Given the description of an element on the screen output the (x, y) to click on. 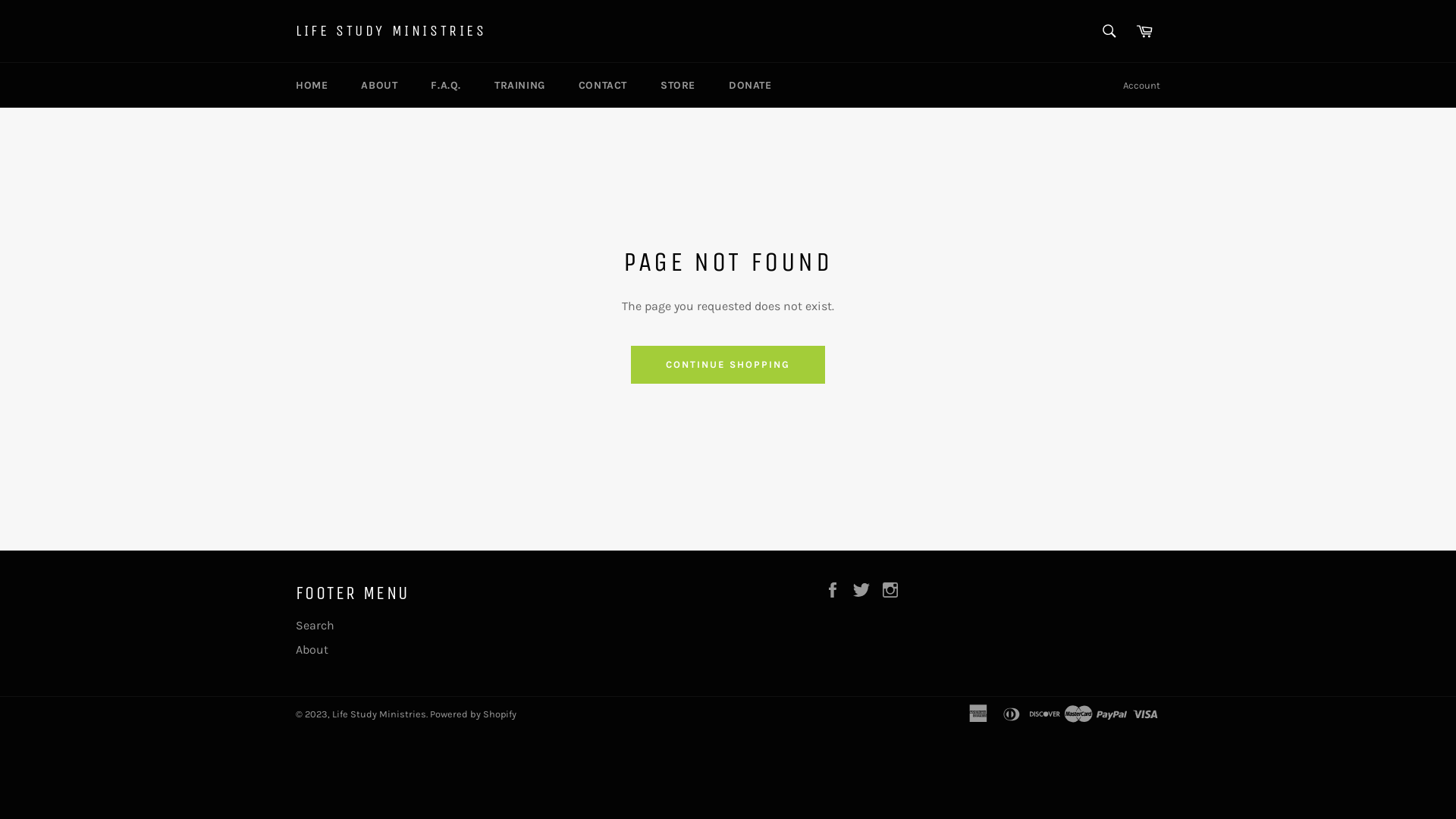
HOME Element type: text (311, 84)
Life Study Ministries Element type: text (379, 713)
F.A.Q. Element type: text (445, 84)
CONTINUE SHOPPING Element type: text (727, 364)
Search Element type: text (1109, 31)
ABOUT Element type: text (378, 84)
Powered by Shopify Element type: text (472, 713)
Search Element type: text (314, 625)
About Element type: text (311, 649)
TRAINING Element type: text (519, 84)
Facebook Element type: text (836, 588)
Cart Element type: text (1144, 31)
Twitter Element type: text (865, 588)
LIFE STUDY MINISTRIES Element type: text (390, 30)
CONTACT Element type: text (602, 84)
STORE Element type: text (677, 84)
DONATE Element type: text (750, 84)
Instagram Element type: text (893, 588)
Account Element type: text (1141, 85)
